Given the description of an element on the screen output the (x, y) to click on. 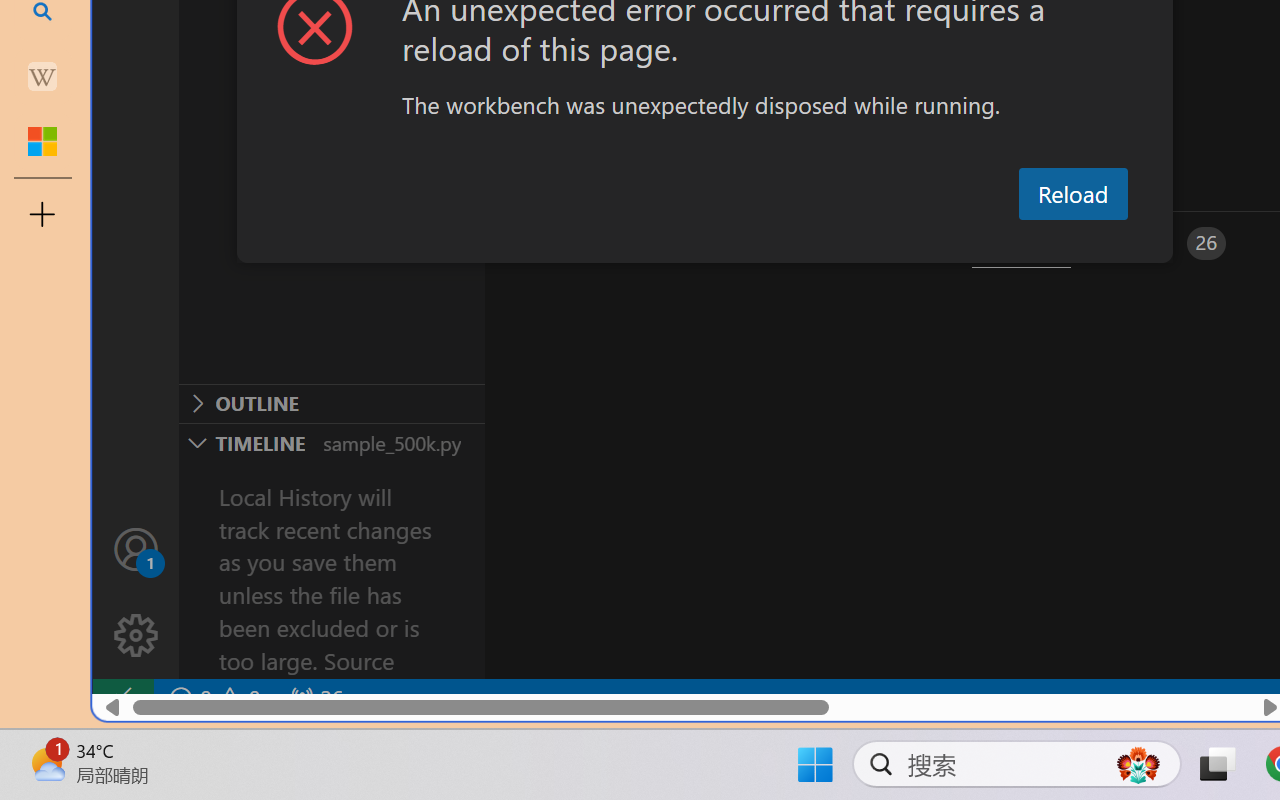
remote (122, 698)
Timeline Section (331, 442)
Ports - 26 forwarded ports (1165, 243)
Output (Ctrl+Shift+U) (696, 243)
No Problems (212, 698)
Terminal (Ctrl+`) (1021, 243)
Reload (1071, 193)
